Given the description of an element on the screen output the (x, y) to click on. 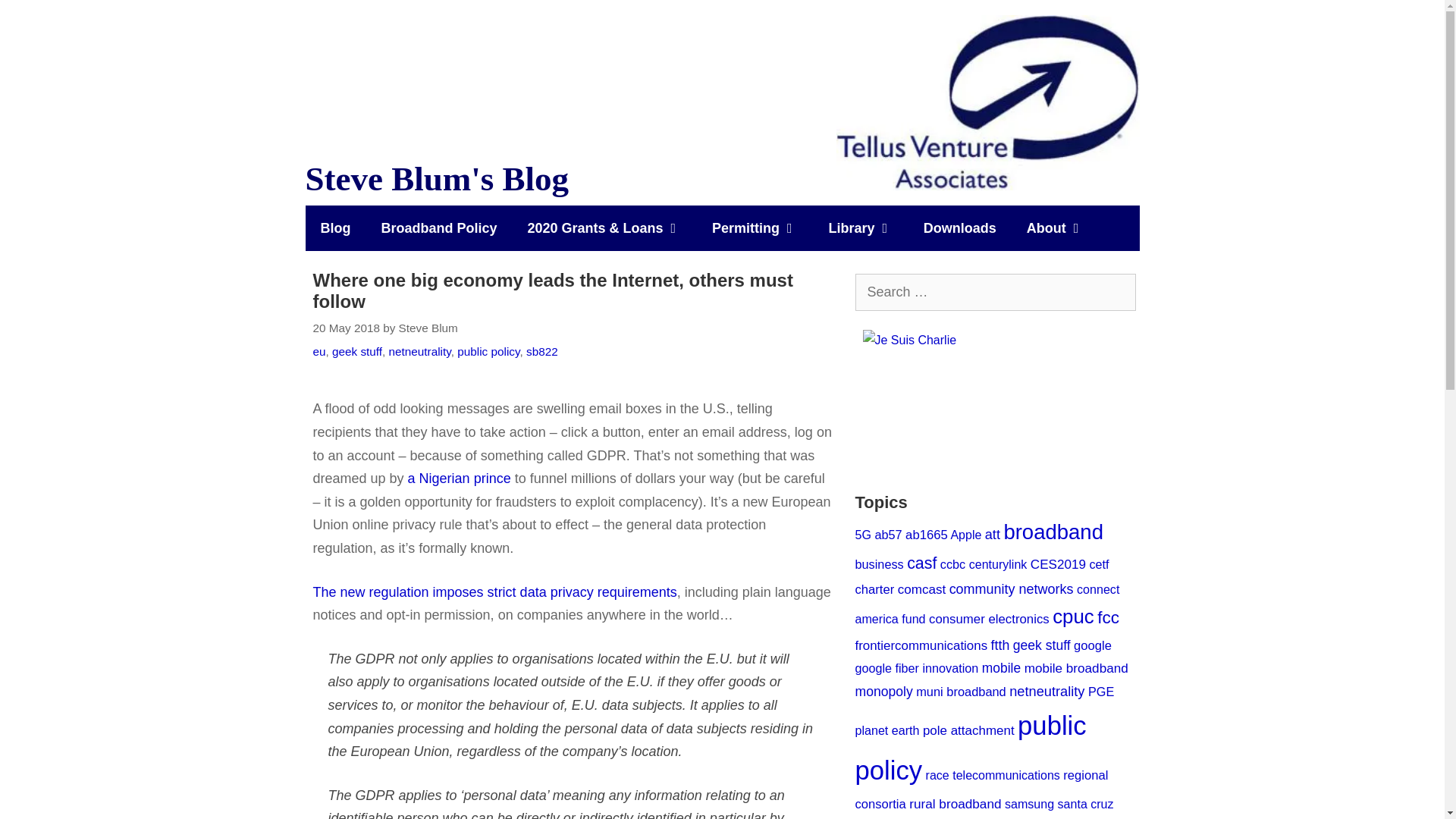
Steve Blum's Blog (986, 102)
Blog (334, 227)
47 topics (863, 534)
71 topics (888, 534)
Steve Blum's Blog (986, 101)
Je Suis Charlie (995, 400)
Broadband Policy (438, 227)
Search for: (995, 292)
